Given the description of an element on the screen output the (x, y) to click on. 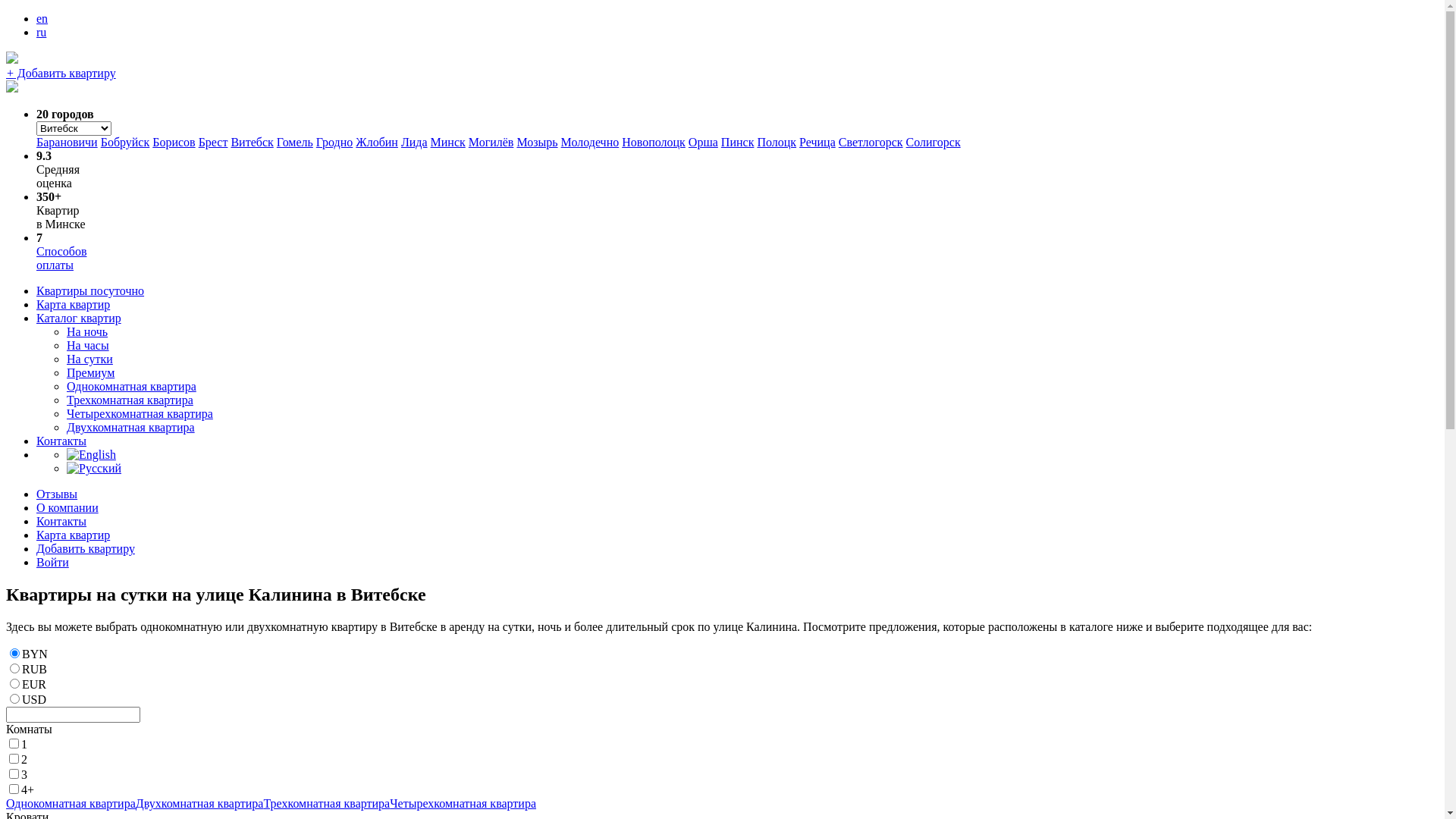
ru Element type: text (41, 31)
Kalinina str. Element type: hover (91, 454)
en Element type: text (41, 18)
English Element type: hover (91, 454)
